Given the description of an element on the screen output the (x, y) to click on. 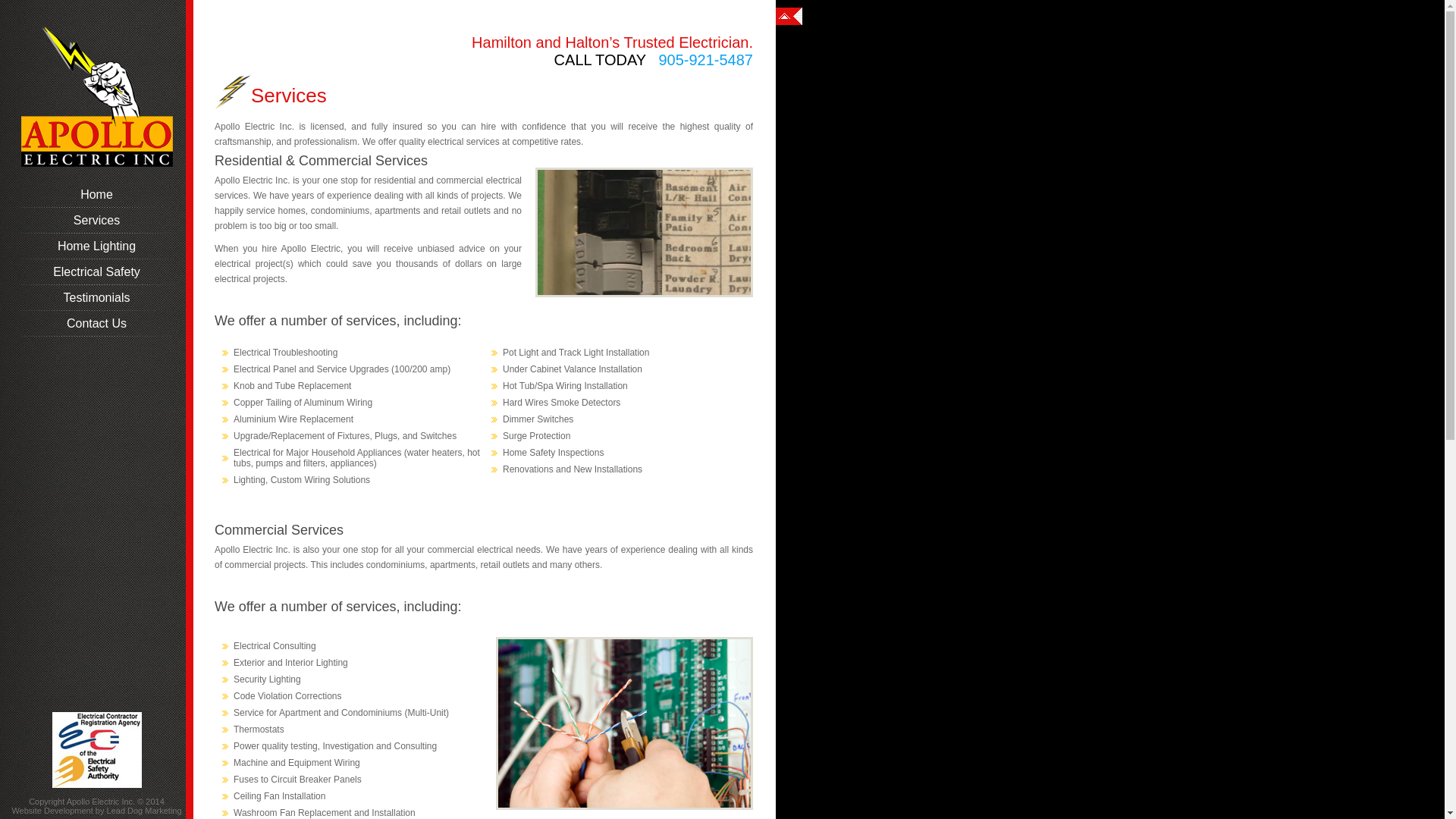
Home Element type: text (96, 194)
Testimonials Element type: text (96, 297)
Contact Us Element type: text (96, 323)
Go on top Element type: hover (788, 16)
Electrical Safety Element type: text (96, 272)
Services Element type: text (96, 220)
Apollo Electric Inc Element type: hover (96, 96)
Home Lighting Element type: text (96, 246)
